Given the description of an element on the screen output the (x, y) to click on. 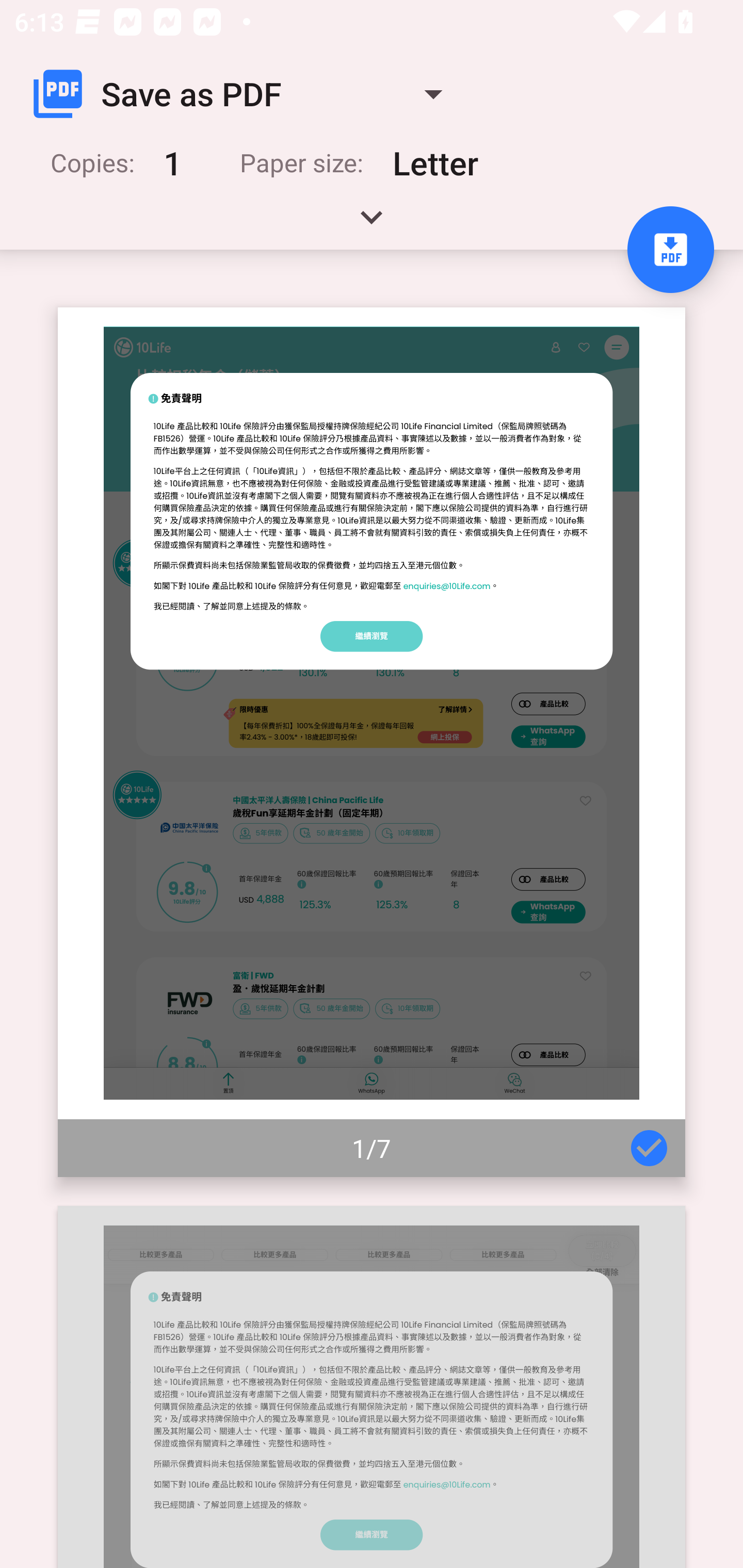
Save as PDF (245, 93)
Expand handle (371, 224)
Save to PDF (670, 249)
Page 1 of 7 1/7 (371, 742)
